Given the description of an element on the screen output the (x, y) to click on. 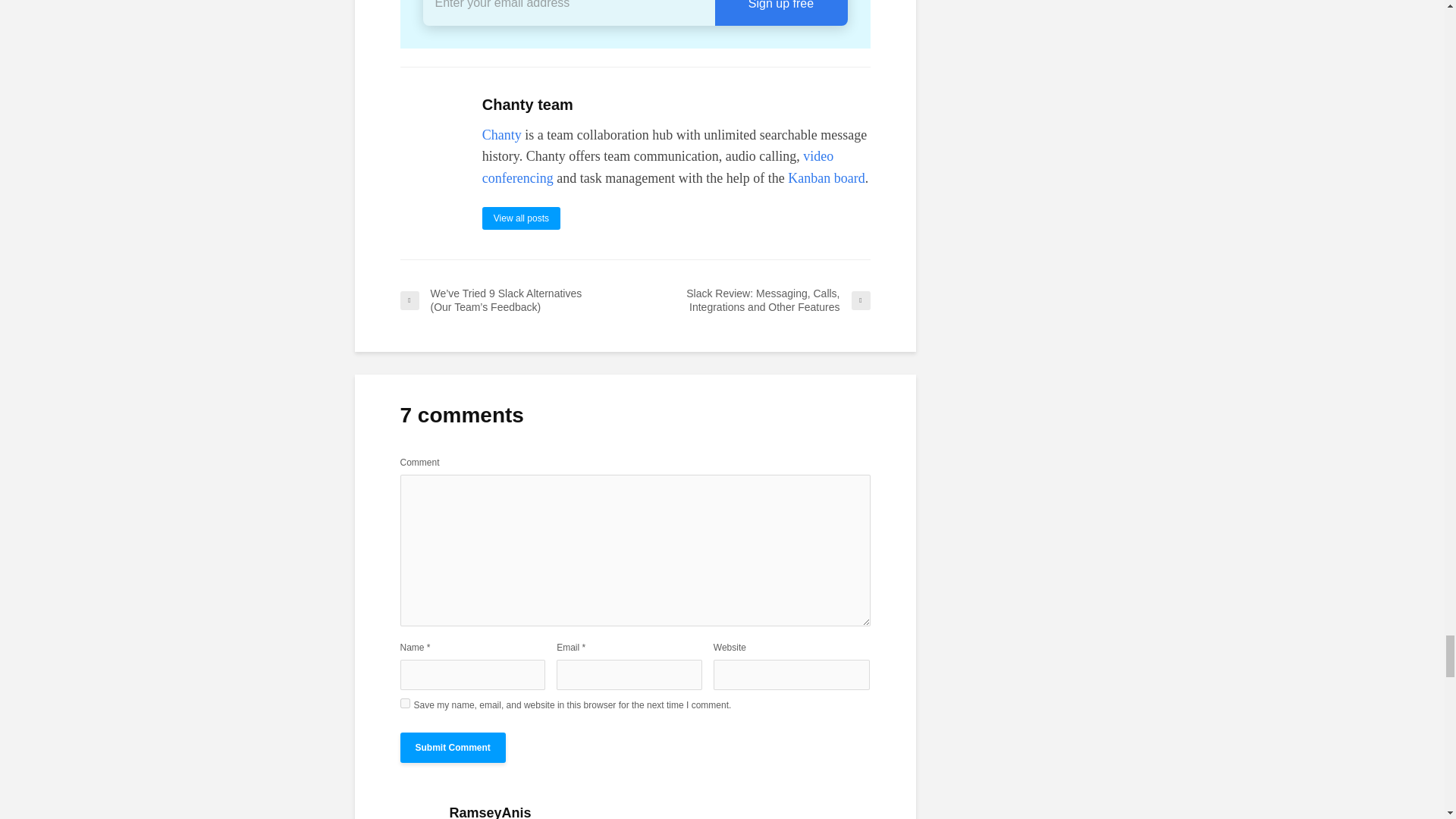
Submit Comment (452, 747)
Sign up free (780, 12)
yes (405, 703)
